Given the description of an element on the screen output the (x, y) to click on. 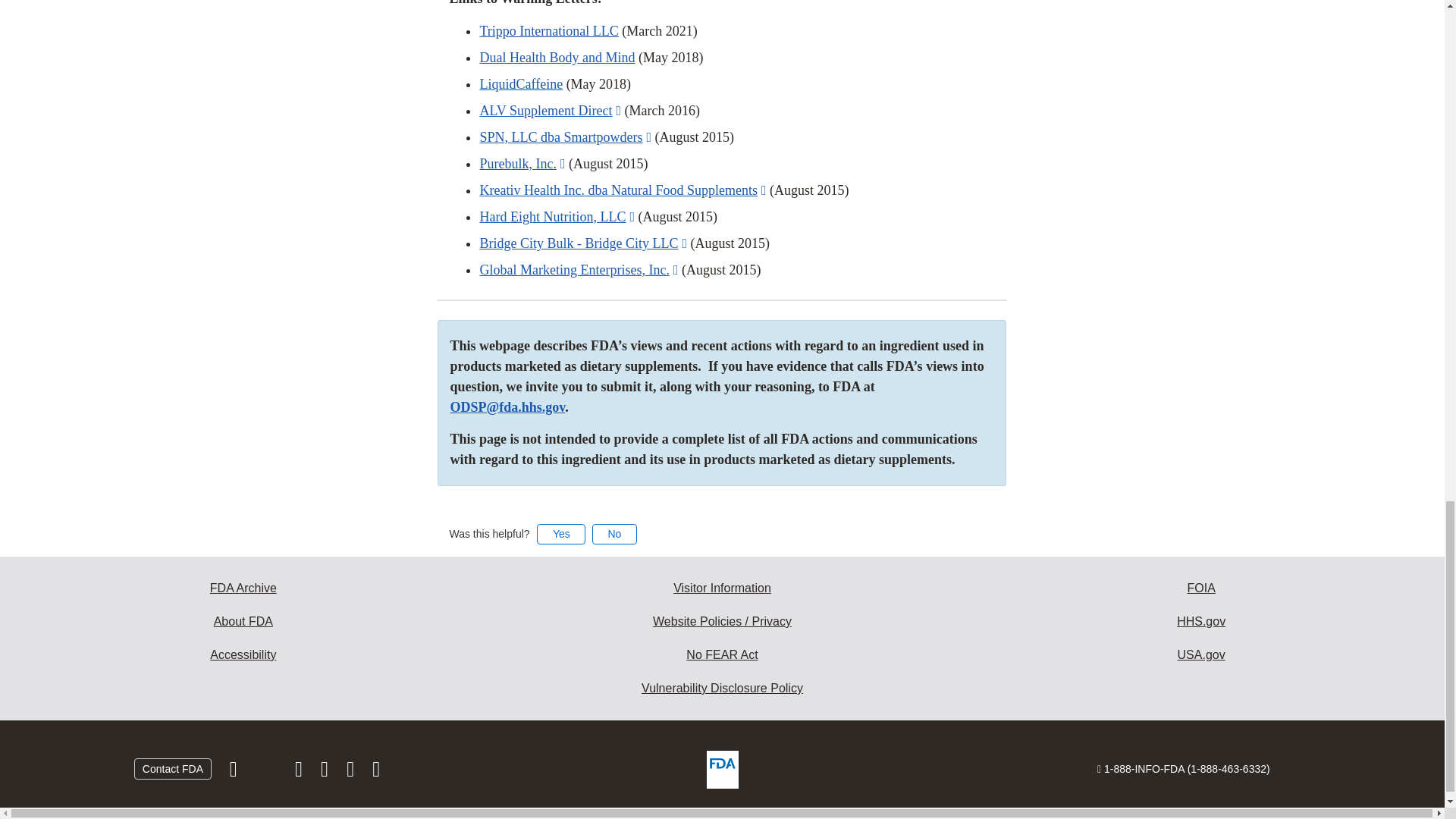
No (614, 534)
Yes (561, 534)
Freedom of Information Act (1200, 588)
Health and Human Services (1200, 621)
